Given the description of an element on the screen output the (x, y) to click on. 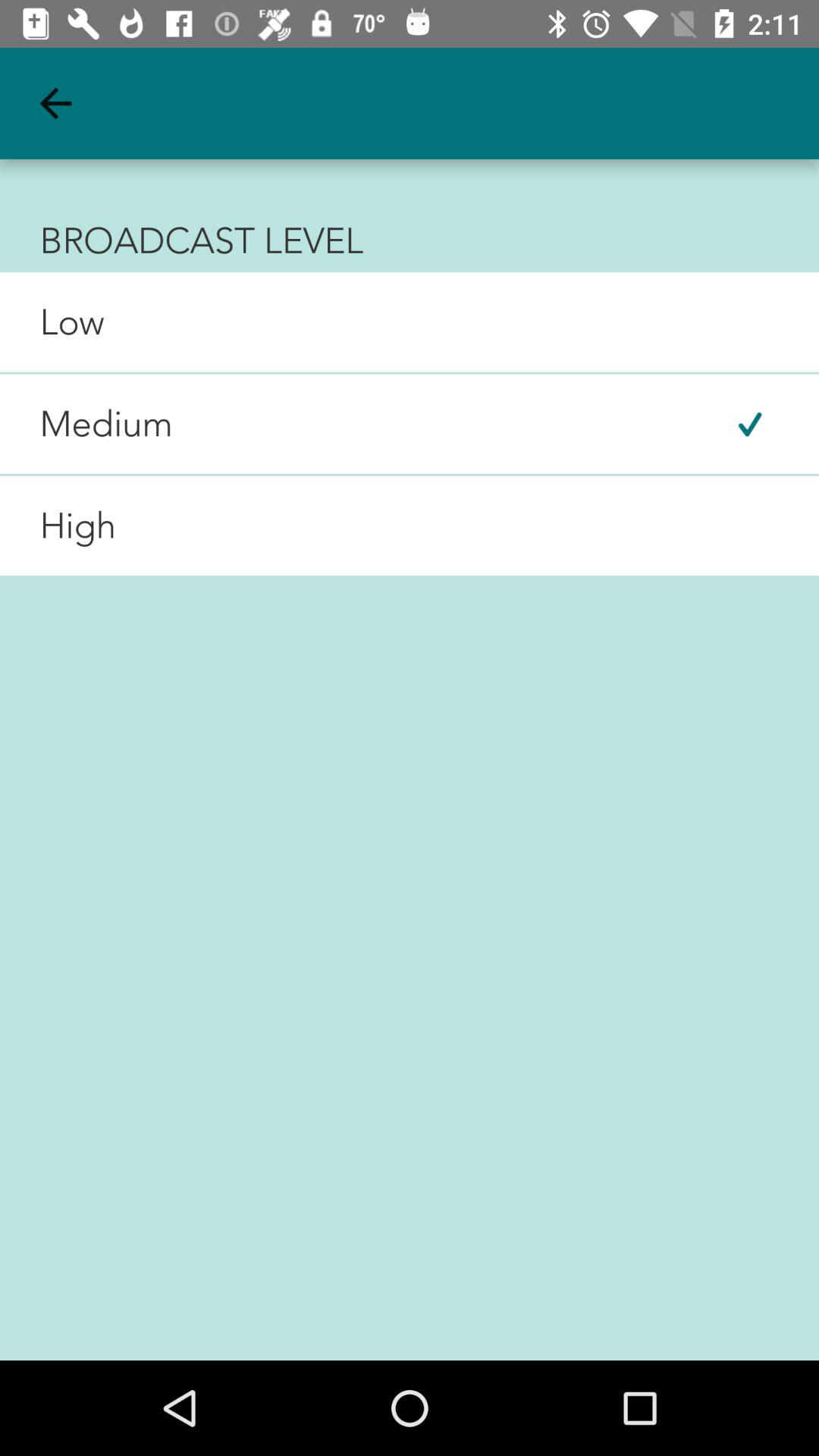
scroll until the low icon (52, 321)
